Given the description of an element on the screen output the (x, y) to click on. 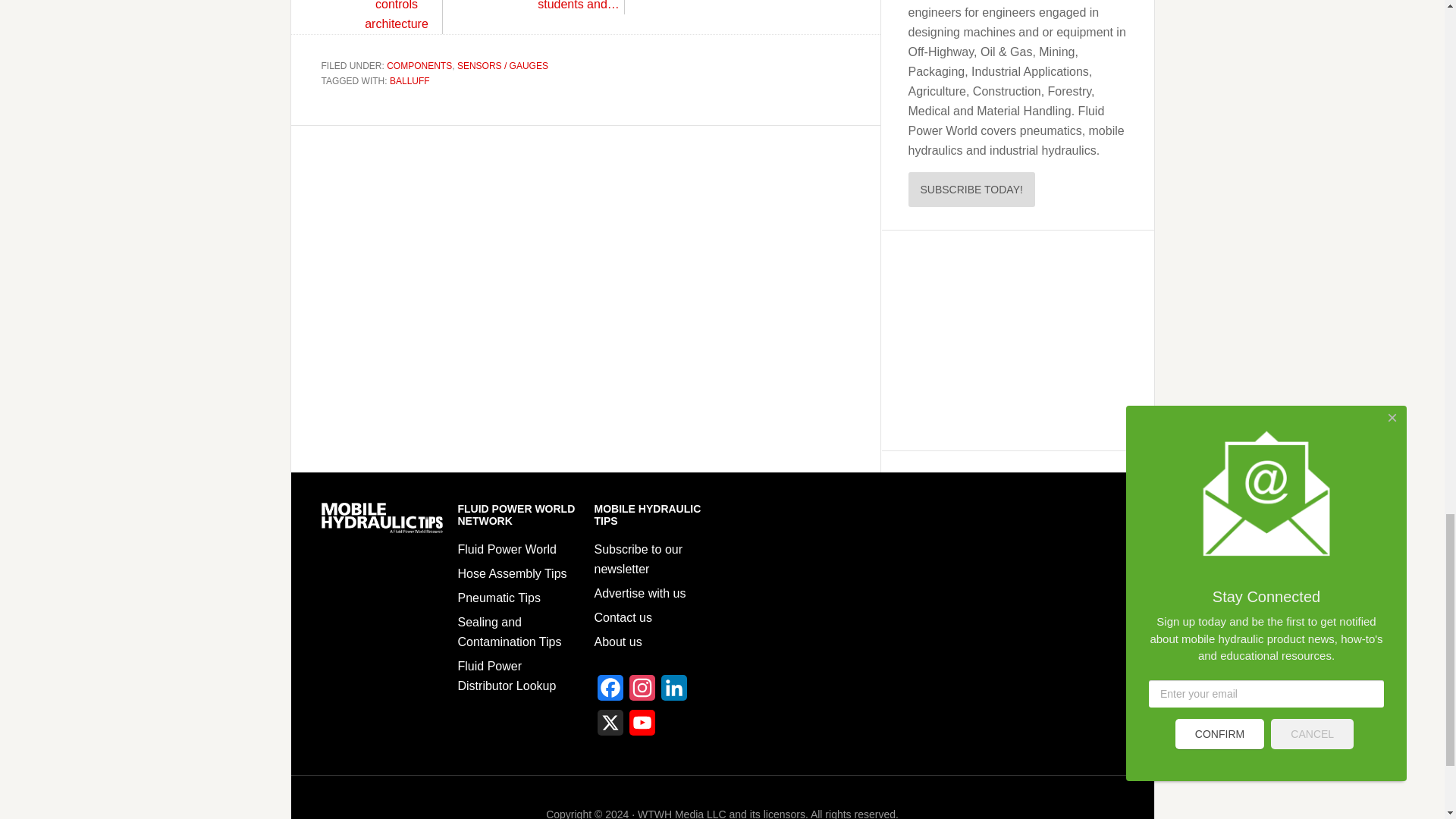
SUBSCRIBE TODAY! (971, 188)
SUBSCRIBE TODAY! (971, 189)
Facebook (610, 692)
LinkedIn Company (674, 692)
Instagram (642, 692)
X (610, 727)
3rd party ad content (1010, 339)
BALLUFF (409, 81)
Fluid Power World (507, 549)
COMPONENTS (419, 65)
YouTube Channel (642, 727)
